Given the description of an element on the screen output the (x, y) to click on. 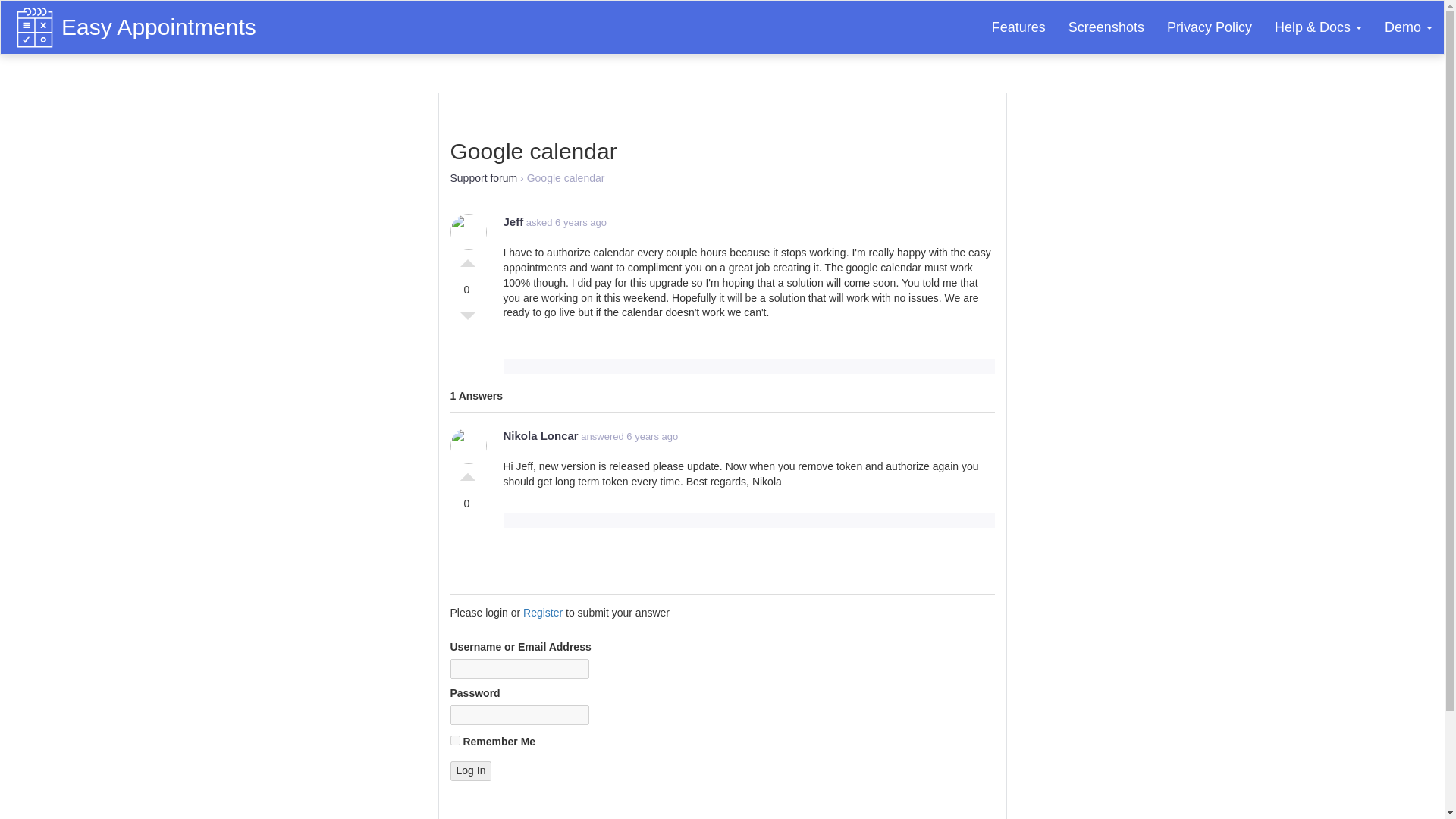
Easy Appointments (162, 19)
Support forum (483, 177)
Vote Down (467, 319)
Screenshots (1106, 27)
Register (542, 612)
Vote Up (467, 473)
Log In (470, 771)
Features (1018, 27)
Demo (1408, 27)
Privacy Policy (1209, 27)
